Given the description of an element on the screen output the (x, y) to click on. 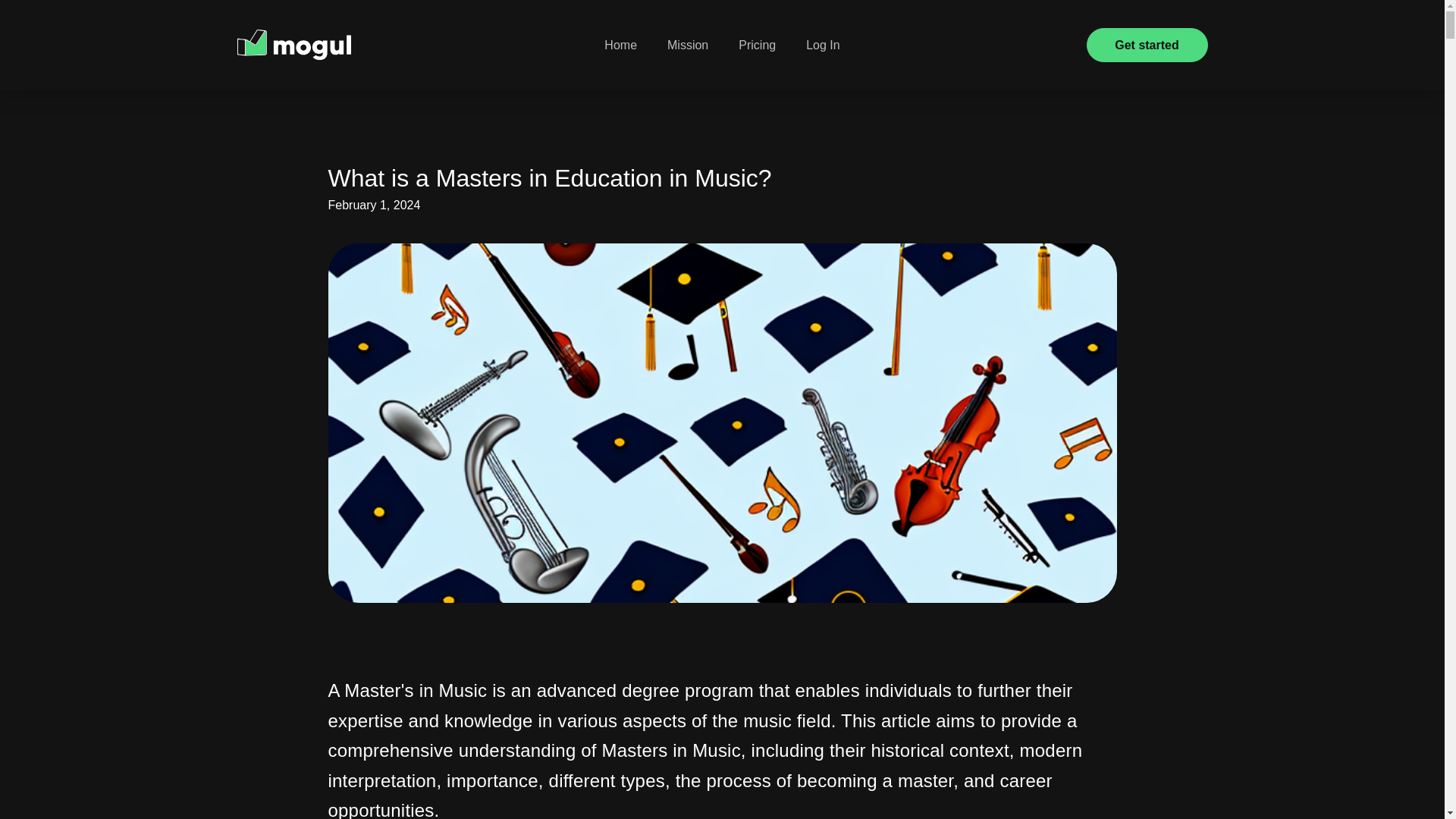
Mission (687, 45)
Get started (1146, 44)
Home (620, 45)
Pricing (756, 45)
Log In (822, 45)
